Given the description of an element on the screen output the (x, y) to click on. 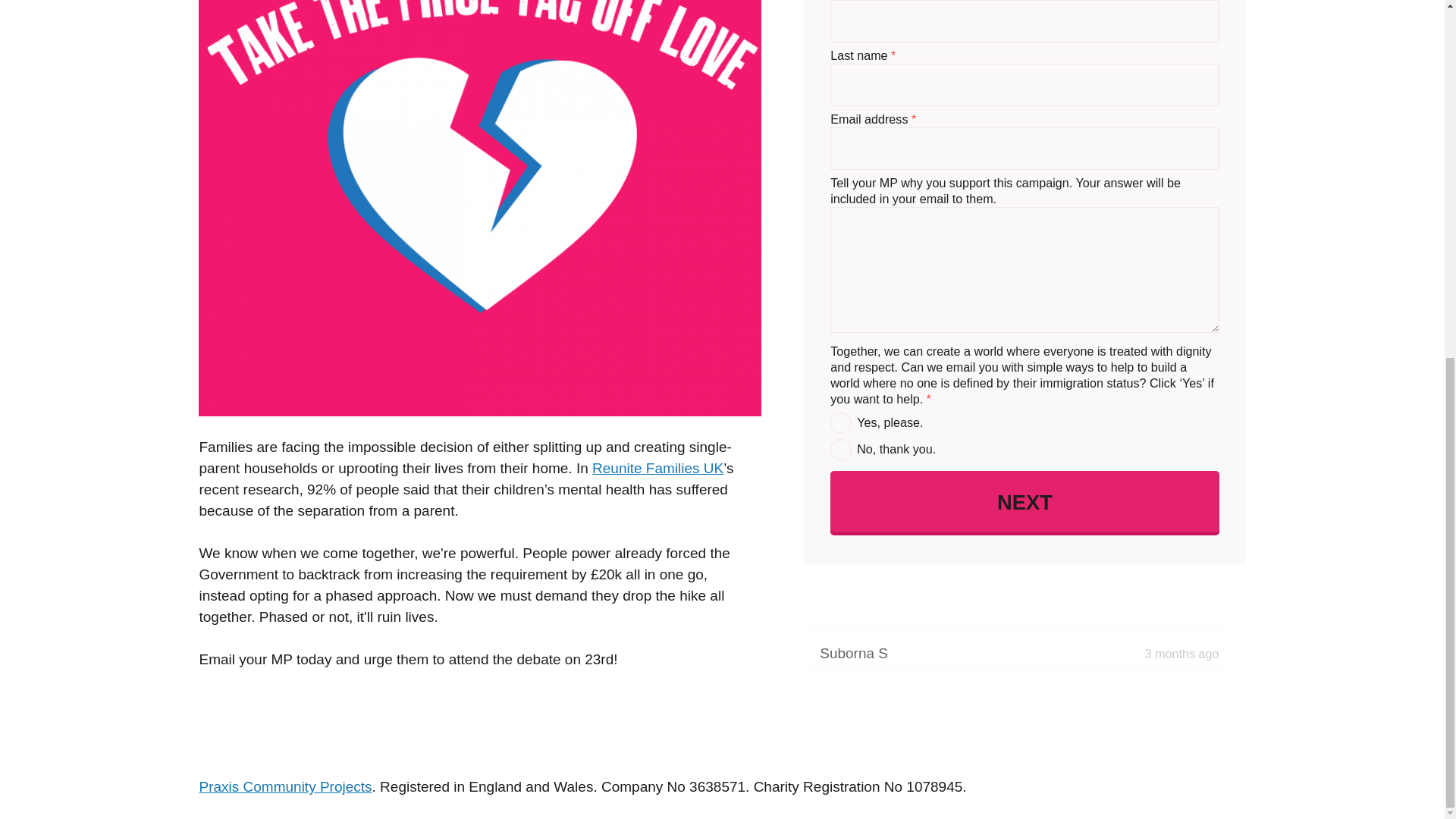
About You (868, 350)
Message (1008, 350)
Next (836, 341)
Address (941, 350)
Next (1023, 370)
Reunite Families UK (657, 467)
About You (868, 350)
Praxis Community Projects (284, 786)
